Given the description of an element on the screen output the (x, y) to click on. 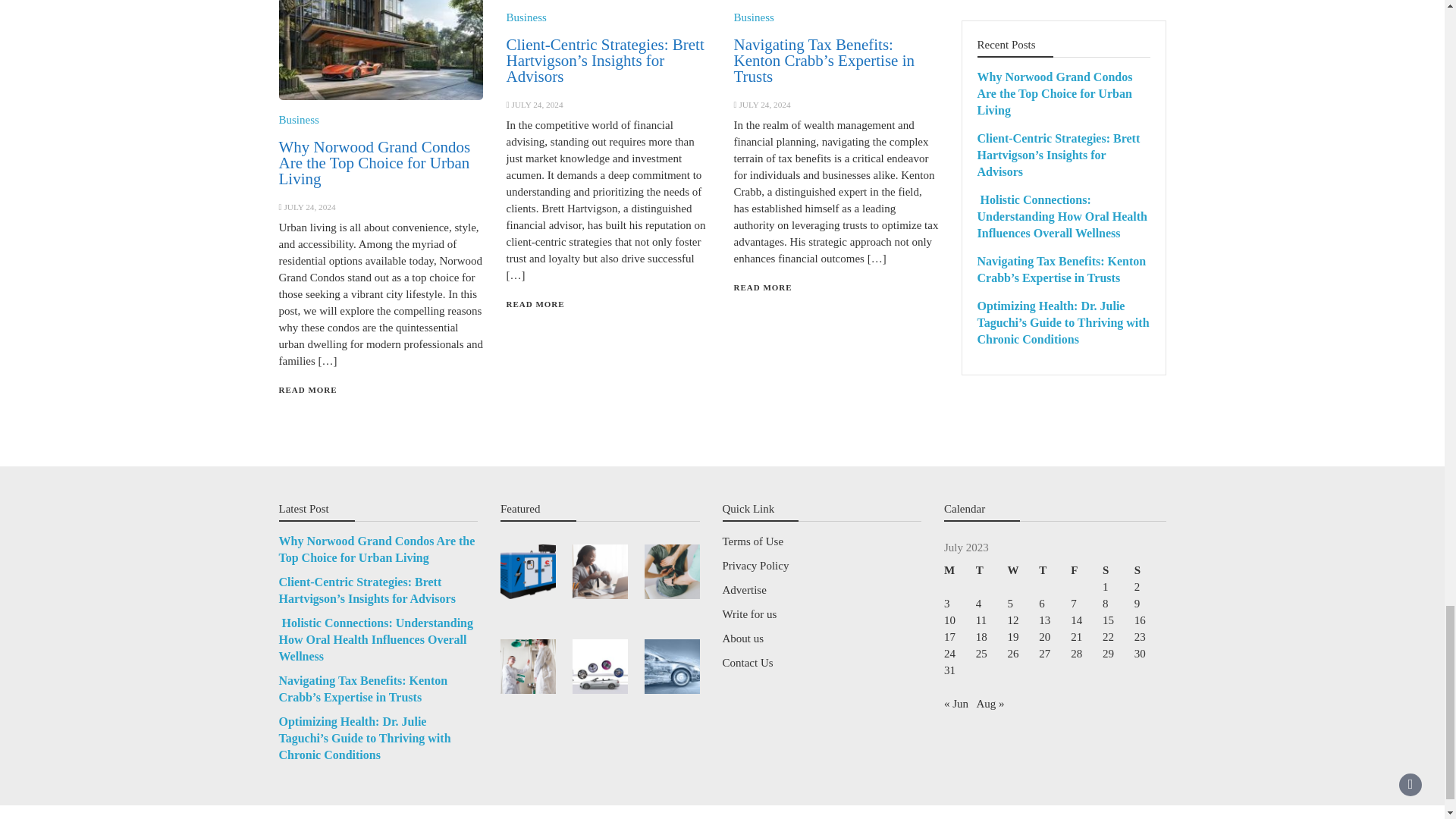
Saturday (1118, 569)
Business (753, 17)
Thursday (1054, 569)
Wednesday (1023, 569)
Monday (959, 569)
JULY 24, 2024 (536, 103)
READ MORE (308, 388)
Sunday (1150, 569)
Friday (1086, 569)
JULY 24, 2024 (764, 103)
Business (298, 119)
Tuesday (991, 569)
Why Norwood Grand Condos Are the Top Choice for Urban Living (374, 163)
JULY 24, 2024 (308, 206)
READ MORE (534, 303)
